Given the description of an element on the screen output the (x, y) to click on. 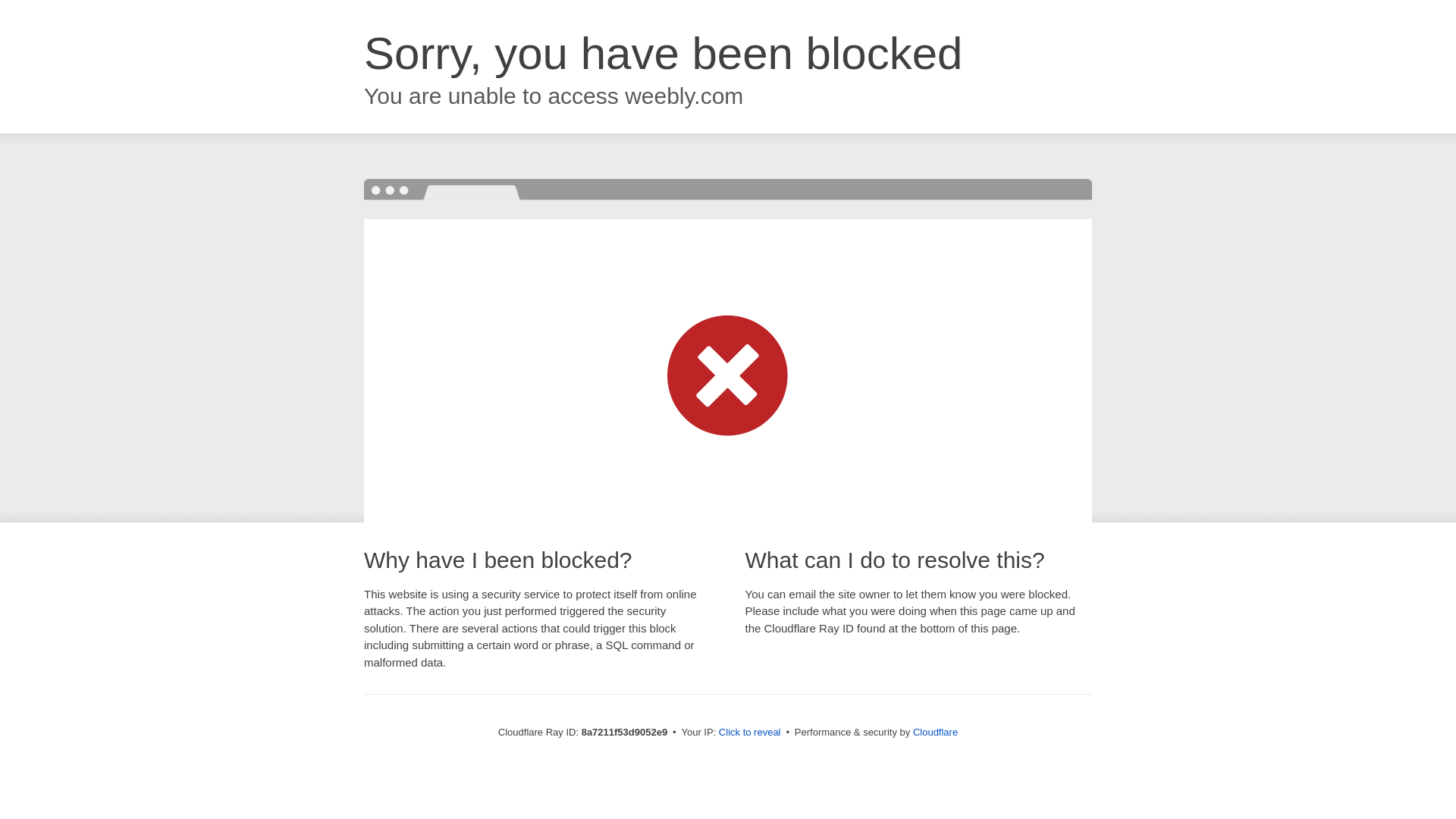
Cloudflare (935, 731)
Click to reveal (749, 732)
